Given the description of an element on the screen output the (x, y) to click on. 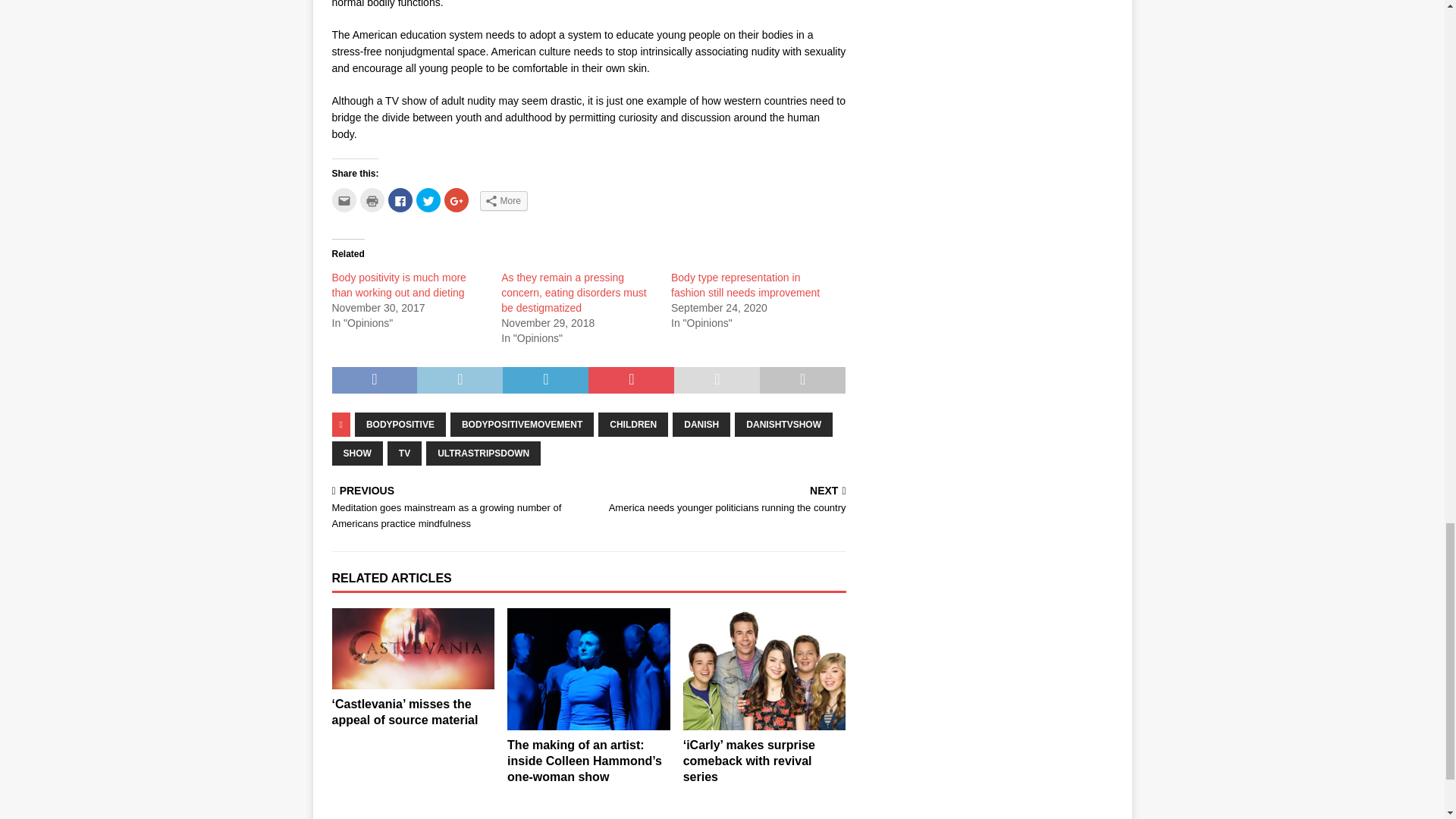
Click to share on Twitter (426, 200)
Click to print (371, 200)
Click to email this to a friend (343, 200)
Click to share on Facebook (400, 200)
